Given the description of an element on the screen output the (x, y) to click on. 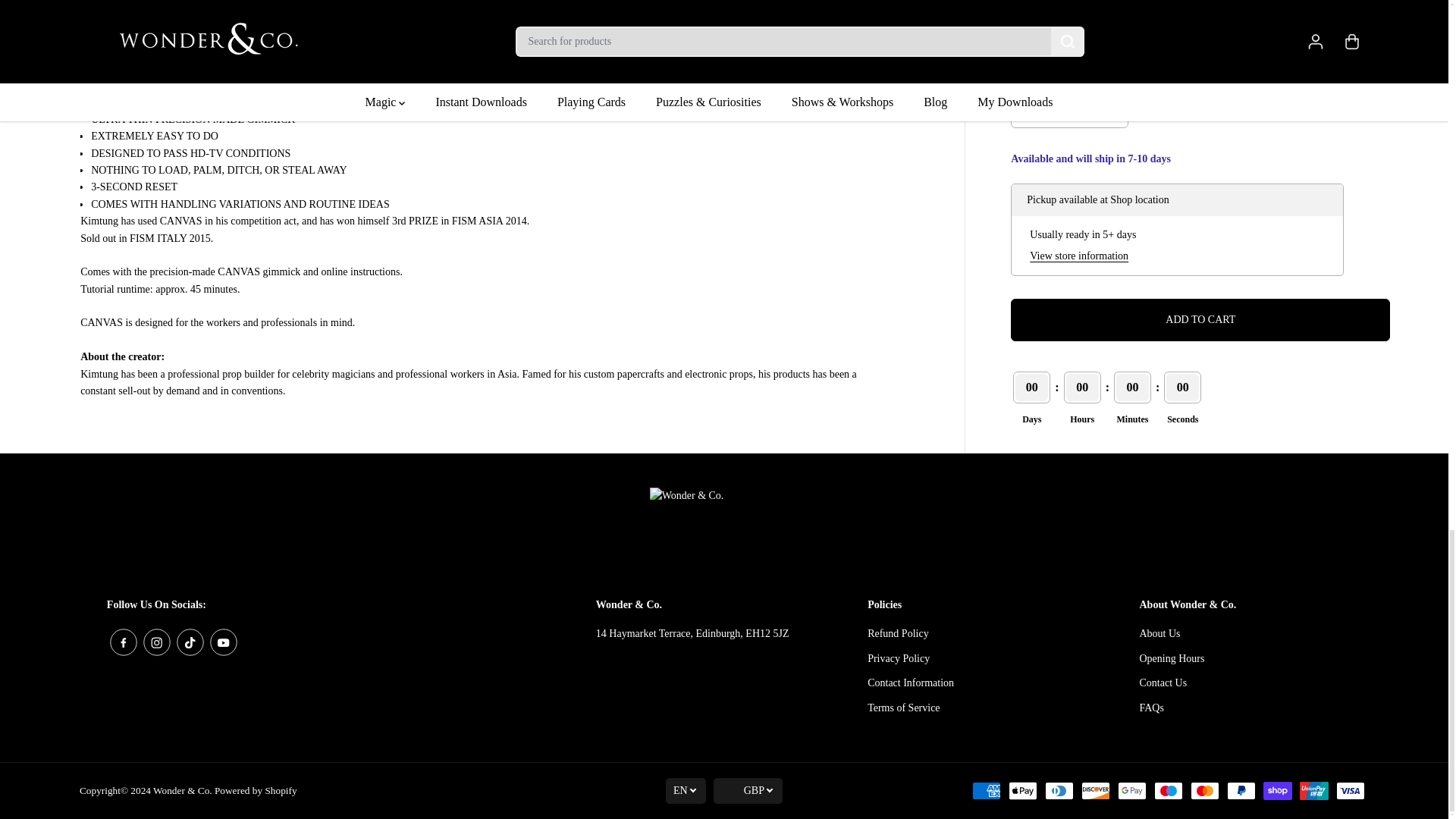
Diners Club (1059, 791)
Mastercard (1205, 791)
American Express (986, 791)
Discover (1095, 791)
Apple Pay (1022, 791)
Maestro (1168, 791)
Google Pay (1132, 791)
